Given the description of an element on the screen output the (x, y) to click on. 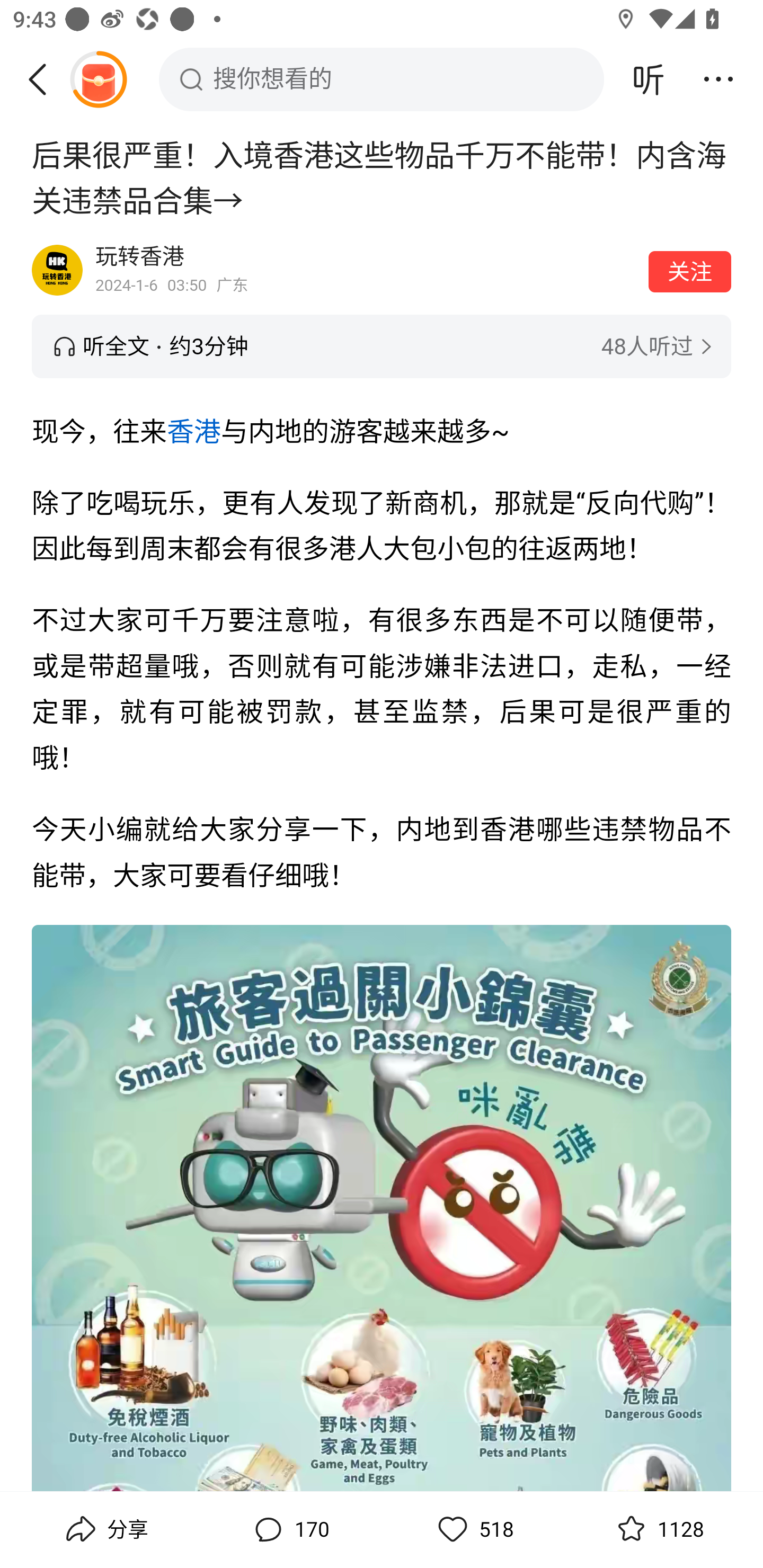
返回 (44, 78)
听头条 (648, 78)
更多操作 (718, 78)
搜你想看的 搜索框，搜你想看的 (381, 79)
阅读赚金币 (98, 79)
作者：玩转香港，2024-1-6 03:50发布，广东 (365, 270)
关注作者 (689, 270)
听全文 约3分钟 48人听过 (381, 346)
香港 (194, 432)
图片，点击识别内容 (381, 1208)
分享 (104, 1529)
评论,170 170 (288, 1529)
收藏,1128 1128 (658, 1529)
